Given the description of an element on the screen output the (x, y) to click on. 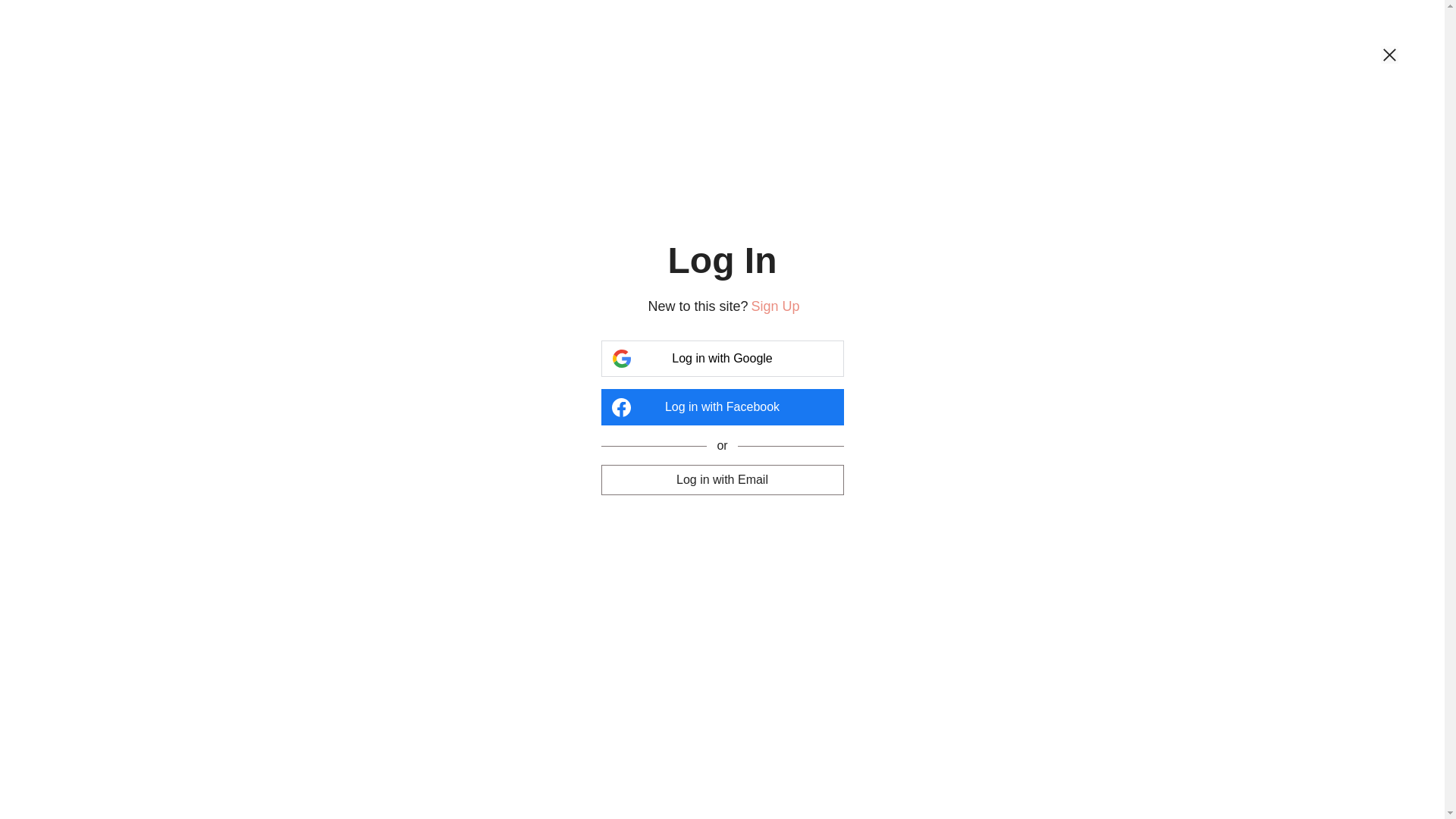
Log in with Facebook Element type: text (721, 407)
Log in with Email Element type: text (721, 479)
Log in with Google Element type: text (721, 358)
Sign Up Element type: text (774, 306)
